Given the description of an element on the screen output the (x, y) to click on. 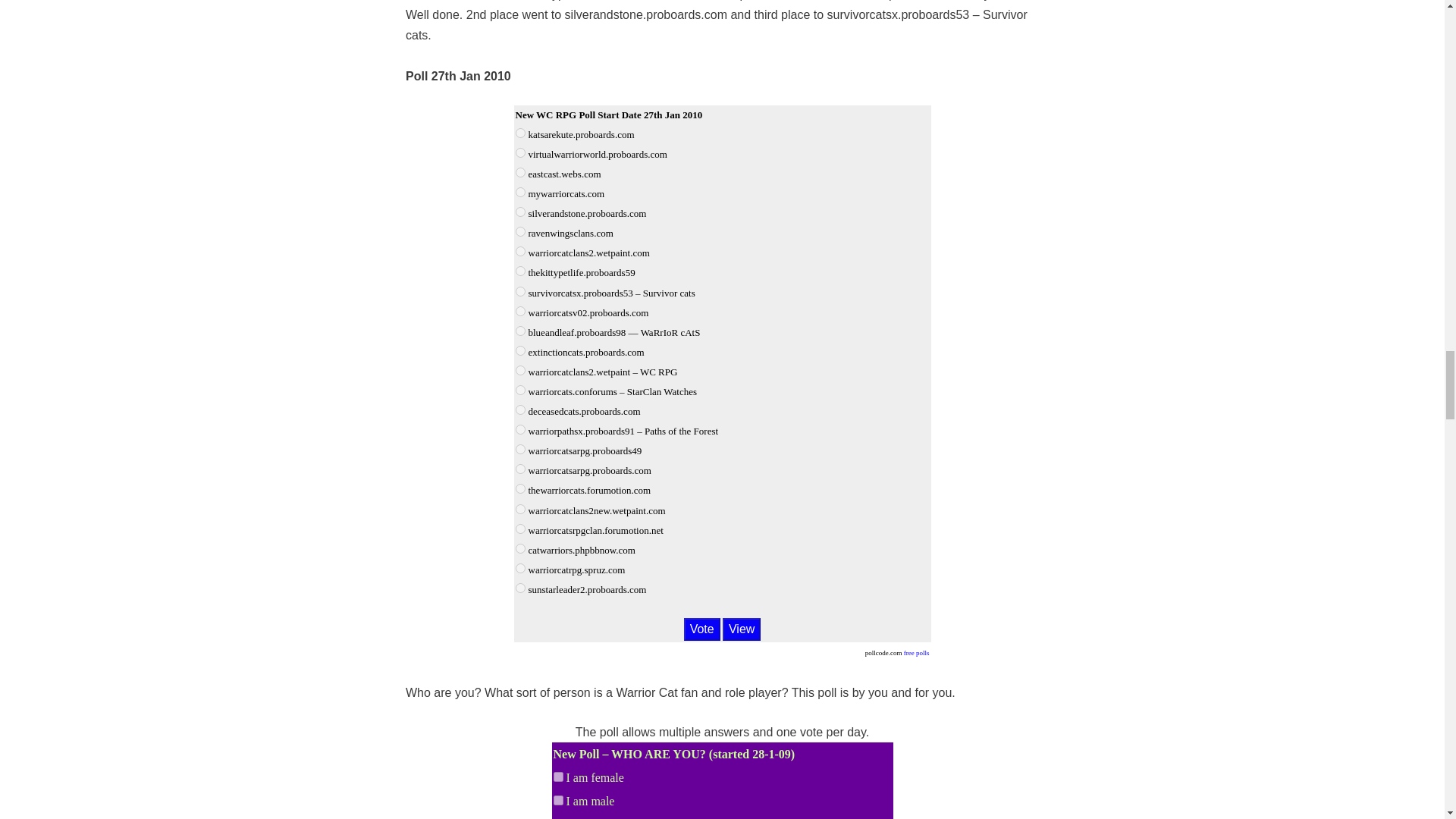
11 (520, 330)
16 (520, 429)
9 (520, 291)
14 (520, 389)
2 (520, 153)
15 (520, 409)
8 (520, 271)
7 (520, 251)
19 (520, 488)
12 (520, 350)
